Given the description of an element on the screen output the (x, y) to click on. 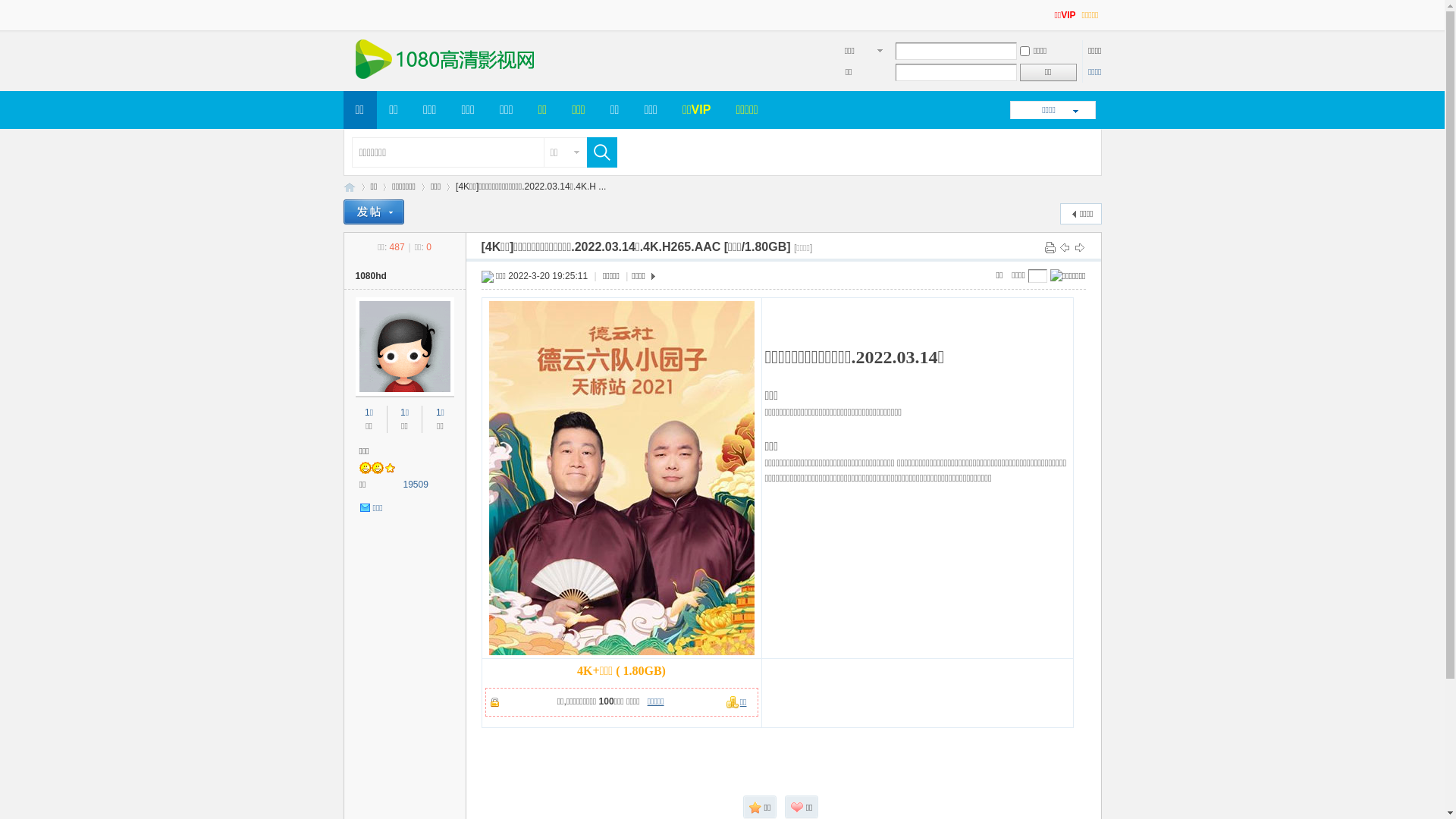
true Element type: text (597, 152)
19509 Element type: text (415, 484)
1080hd Element type: text (369, 275)
